Given the description of an element on the screen output the (x, y) to click on. 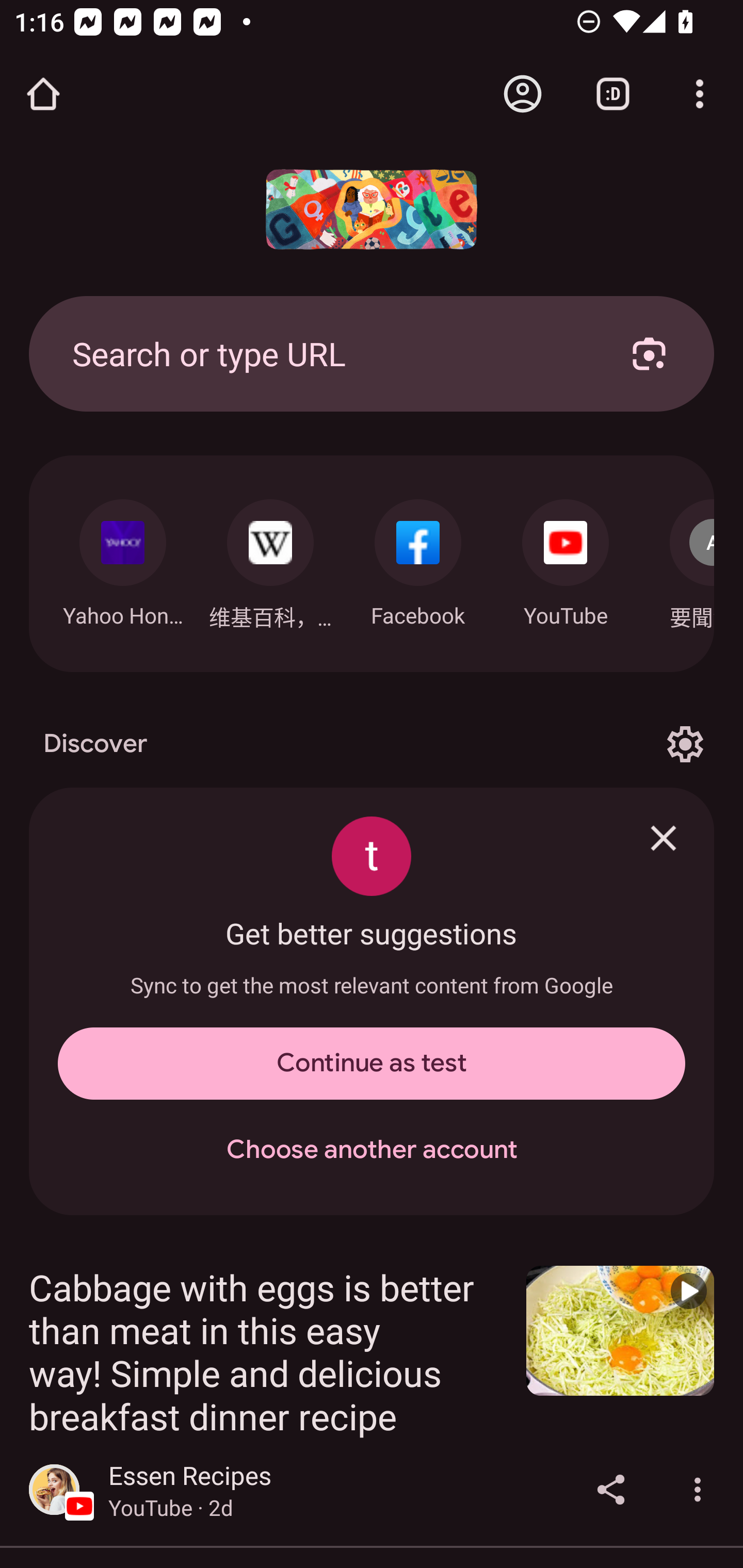
Open the home page (43, 93)
Switch or close tabs (612, 93)
Customize and control Google Chrome (699, 93)
Google doodle: 2024 年國際婦女節 (371, 209)
Search or type URL (327, 353)
Search with your camera using Google Lens (648, 353)
Navigate: Facebook: m.facebook.com Facebook (417, 558)
Navigate: YouTube: m.youtube.com YouTube (565, 558)
Options for Discover (684, 743)
Close (663, 837)
Continue as test (371, 1063)
Choose another account (371, 1150)
